Given the description of an element on the screen output the (x, y) to click on. 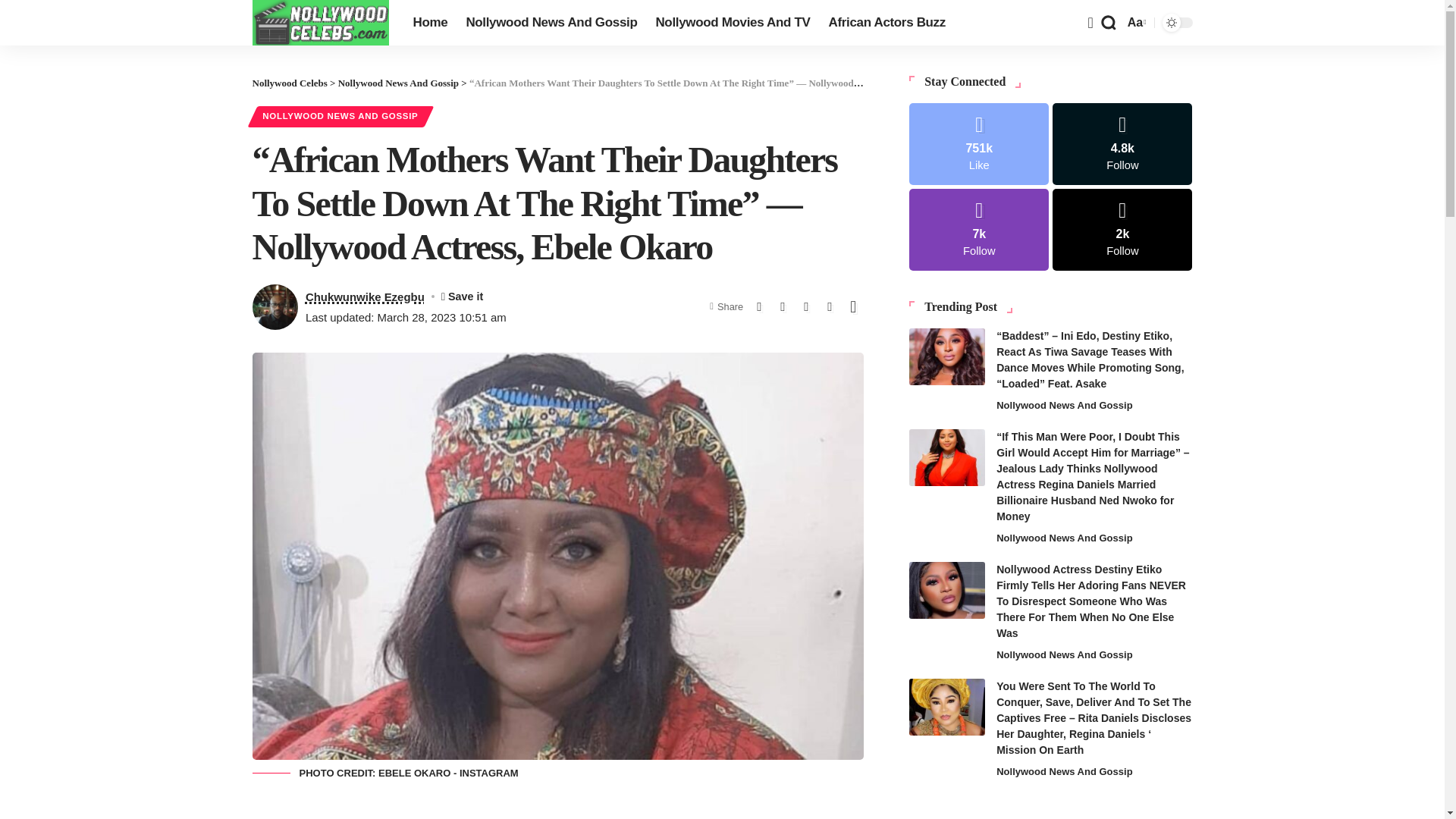
Nollywood Movies And TV (732, 22)
Chukwunwike Ezegbu (365, 296)
Nollywood News And Gossip (397, 82)
Nollywood News And Gossip (551, 22)
African Actors Buzz (885, 22)
Home (430, 22)
Nollywood Celebs (319, 22)
Aa (1135, 22)
Nollywood Celebs (288, 82)
